Given the description of an element on the screen output the (x, y) to click on. 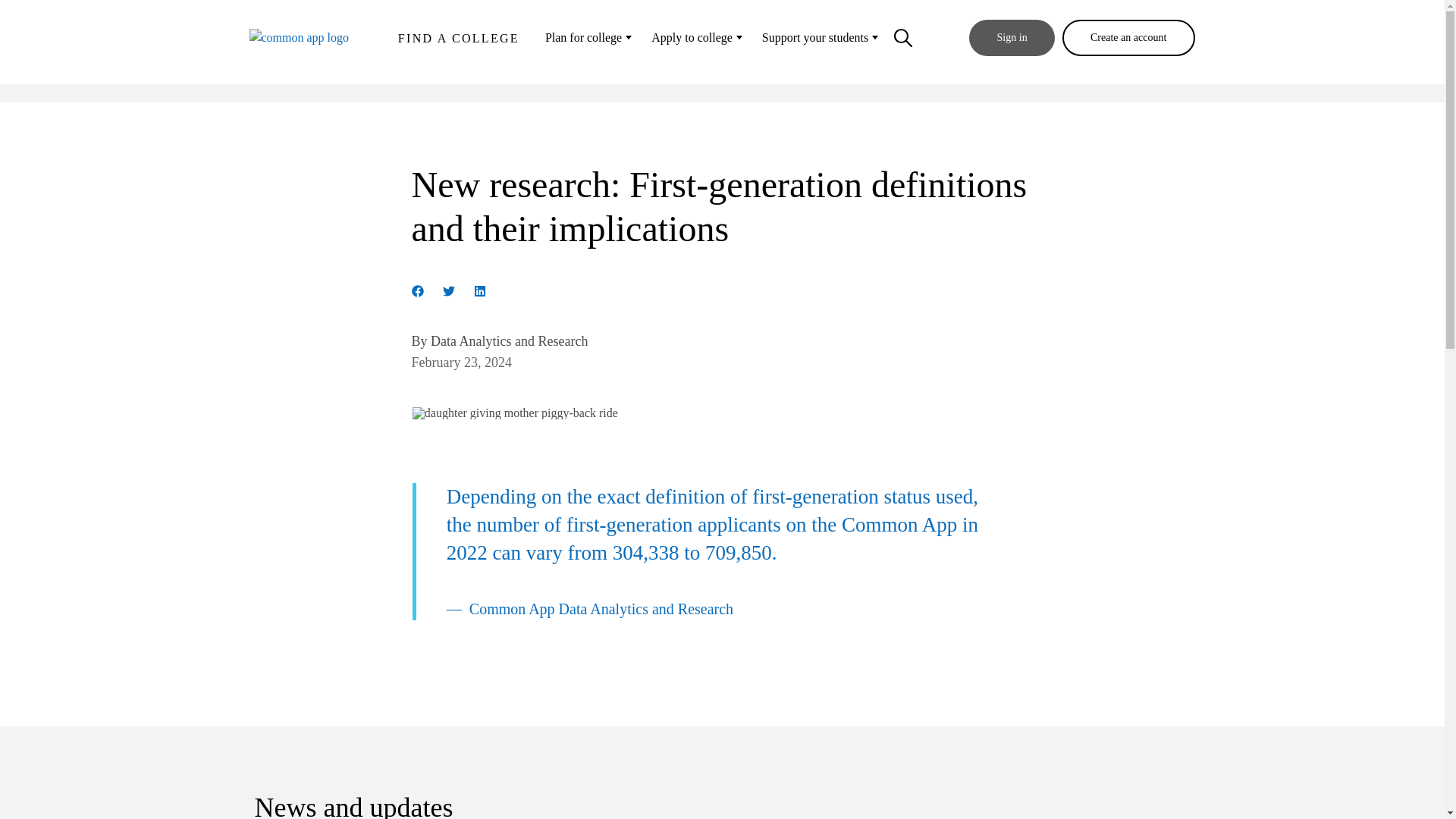
Apply to college (694, 37)
Facebook icon (416, 291)
Linkedin icon (478, 288)
Create an account (1128, 37)
Facebook icon (416, 288)
Sign in (1011, 37)
Twitter icon (448, 291)
Linkedin icon (478, 291)
Twitter icon (448, 288)
FIND A COLLEGE (458, 42)
